Given the description of an element on the screen output the (x, y) to click on. 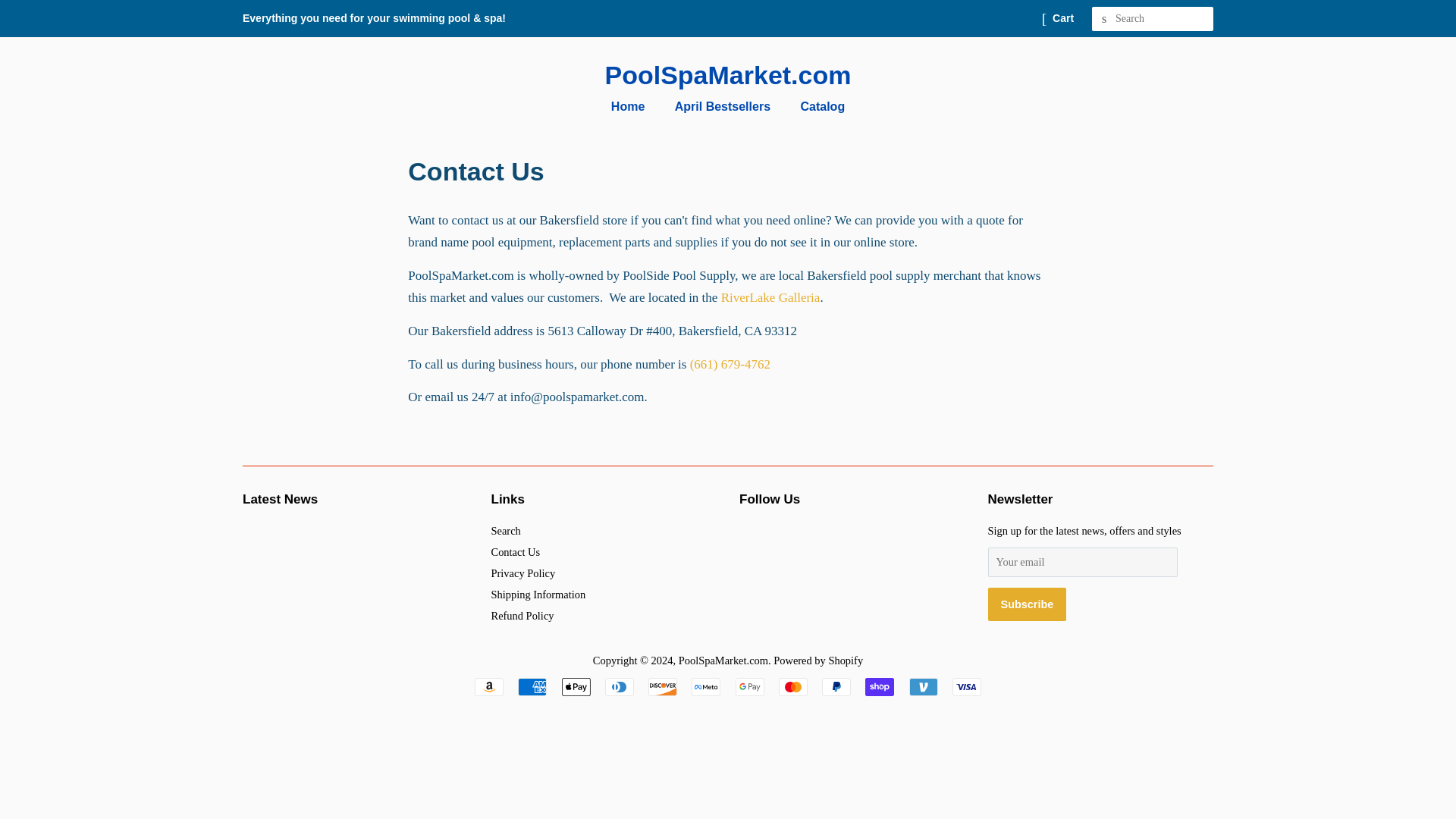
Home (635, 106)
Mastercard (793, 687)
Contact Us (516, 551)
Apple Pay (576, 687)
Shop Pay (878, 687)
Visa (966, 687)
Shipping Information (539, 594)
Amazon (488, 687)
Meta Pay (705, 687)
PayPal (836, 687)
